Given the description of an element on the screen output the (x, y) to click on. 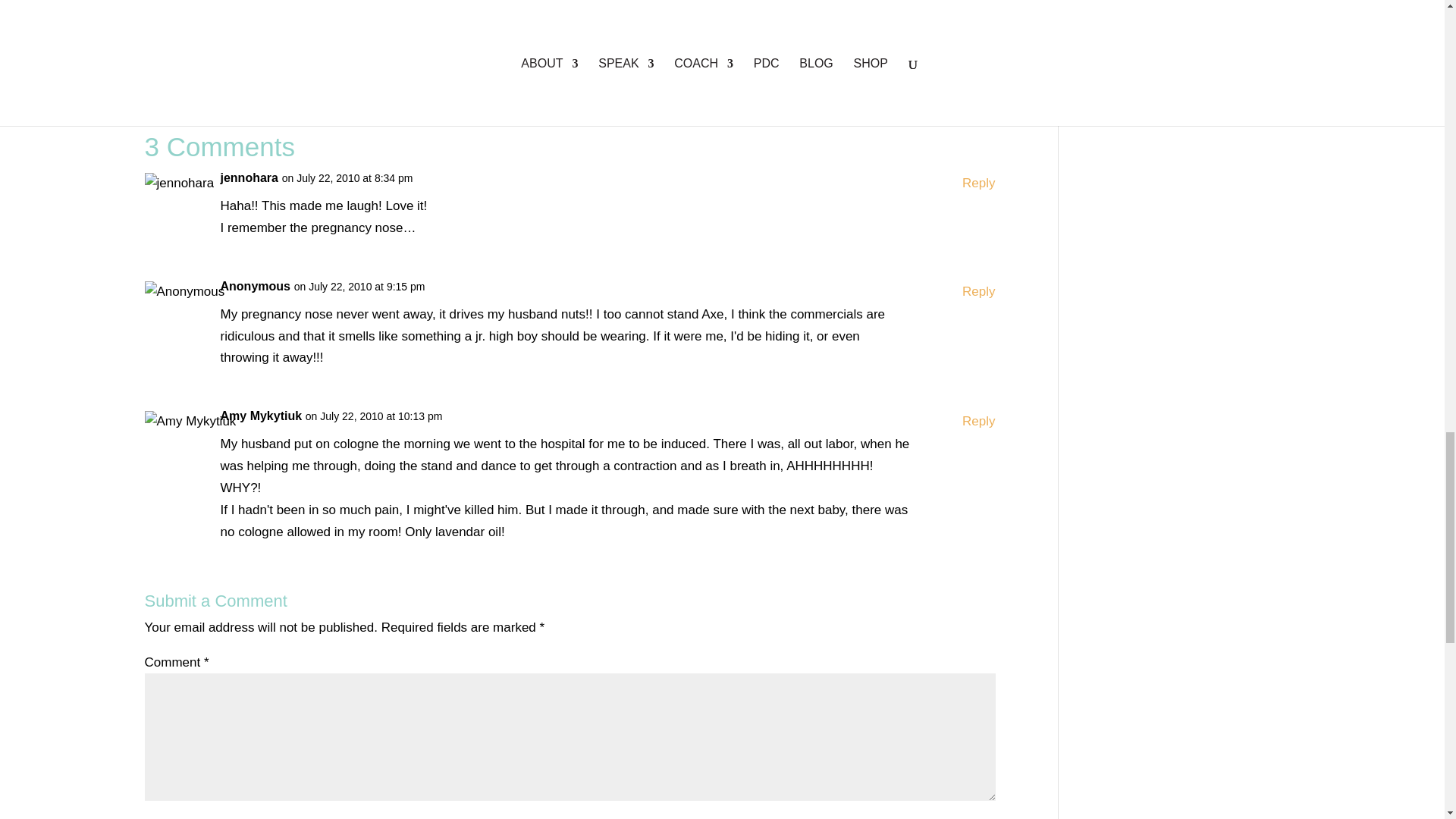
Click to share on Twitter (156, 40)
Click to share on Facebook (186, 40)
Reply (978, 422)
Reply (978, 292)
Reply (978, 183)
